Given the description of an element on the screen output the (x, y) to click on. 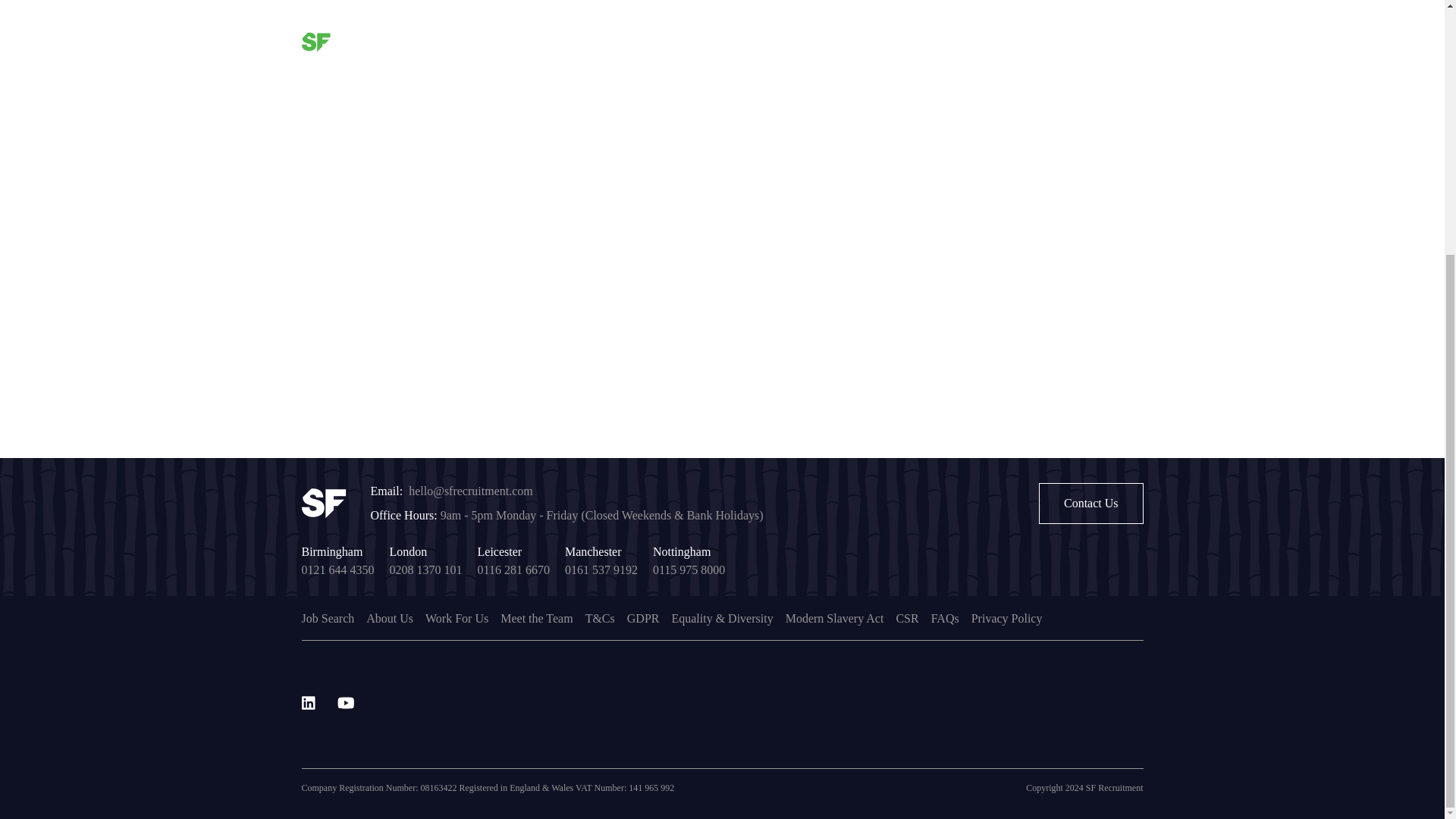
About Us (389, 618)
0161 537 9192 (600, 570)
Modern Slavery Act (834, 618)
Job Search (328, 618)
CSR (906, 618)
London (409, 551)
0208 1370 101 (426, 570)
FAQs (945, 618)
Work For Us (456, 618)
Nottingham (681, 551)
